Given the description of an element on the screen output the (x, y) to click on. 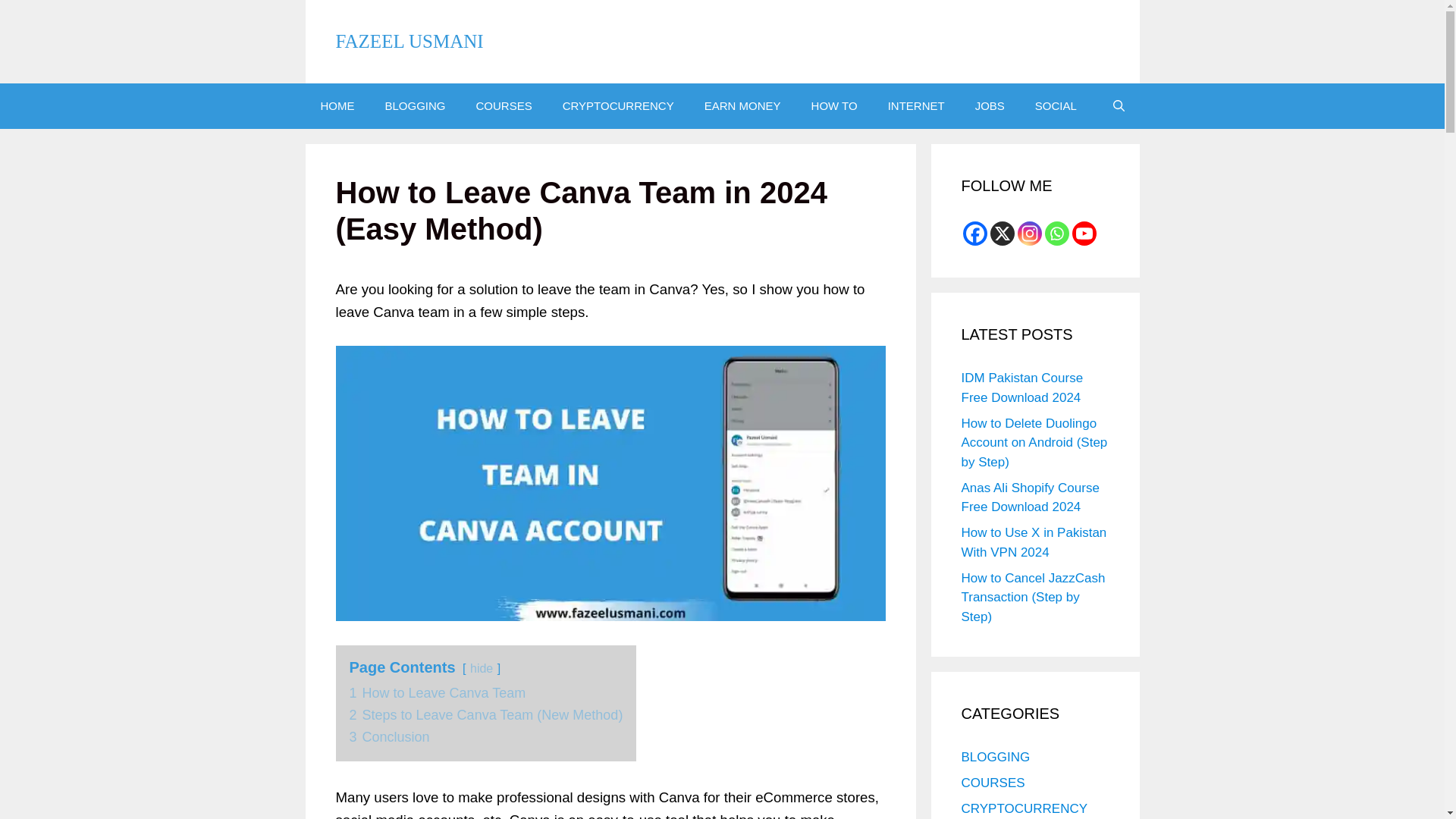
EARN MONEY (742, 105)
INTERNET (915, 105)
hide (481, 667)
3 Conclusion (389, 736)
SOCIAL (1056, 105)
HOW TO (834, 105)
JOBS (989, 105)
COURSES (504, 105)
1 How to Leave Canva Team (437, 693)
